Given the description of an element on the screen output the (x, y) to click on. 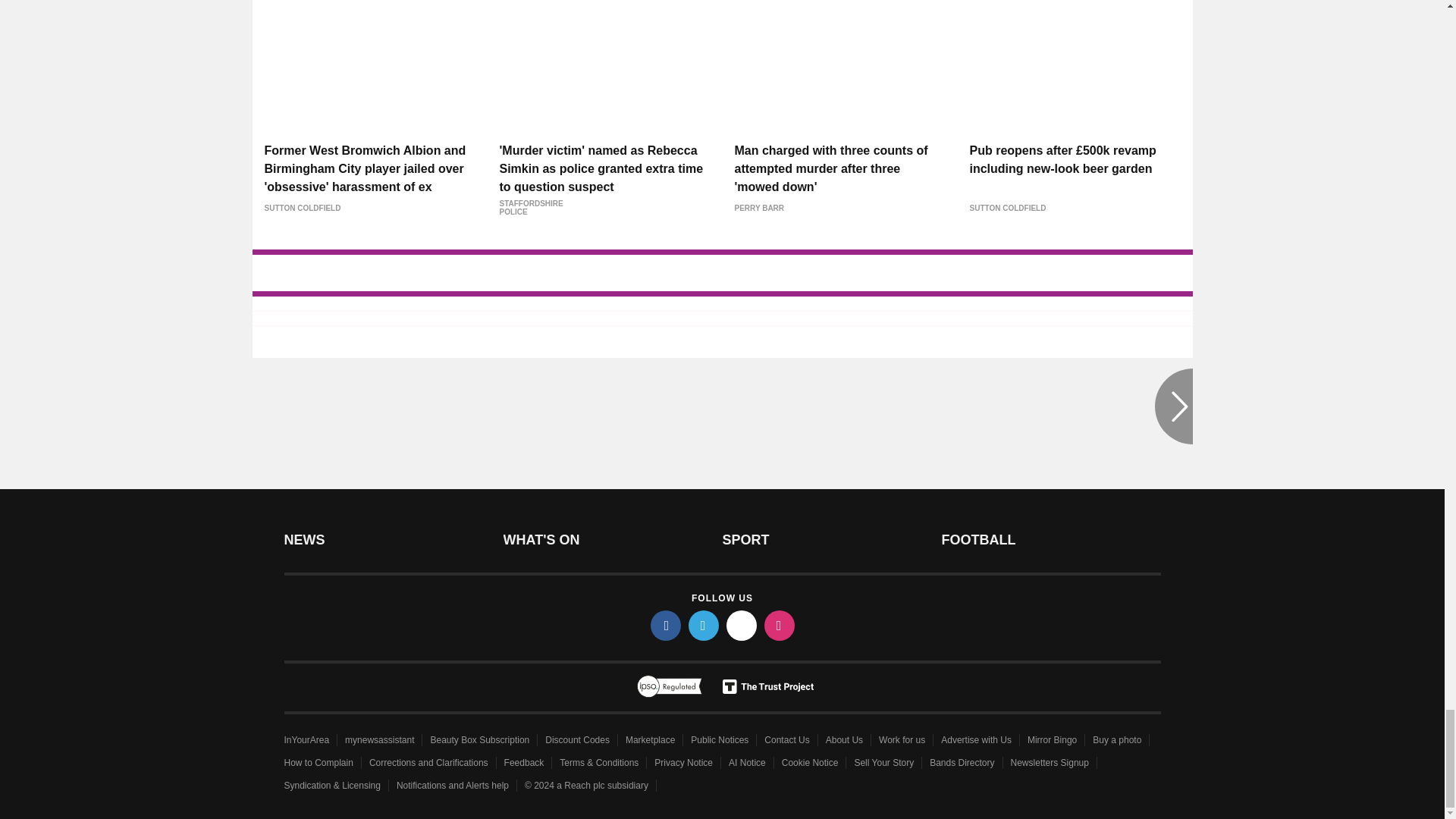
instagram (779, 625)
twitter (703, 625)
facebook (665, 625)
tiktok (741, 625)
